Given the description of an element on the screen output the (x, y) to click on. 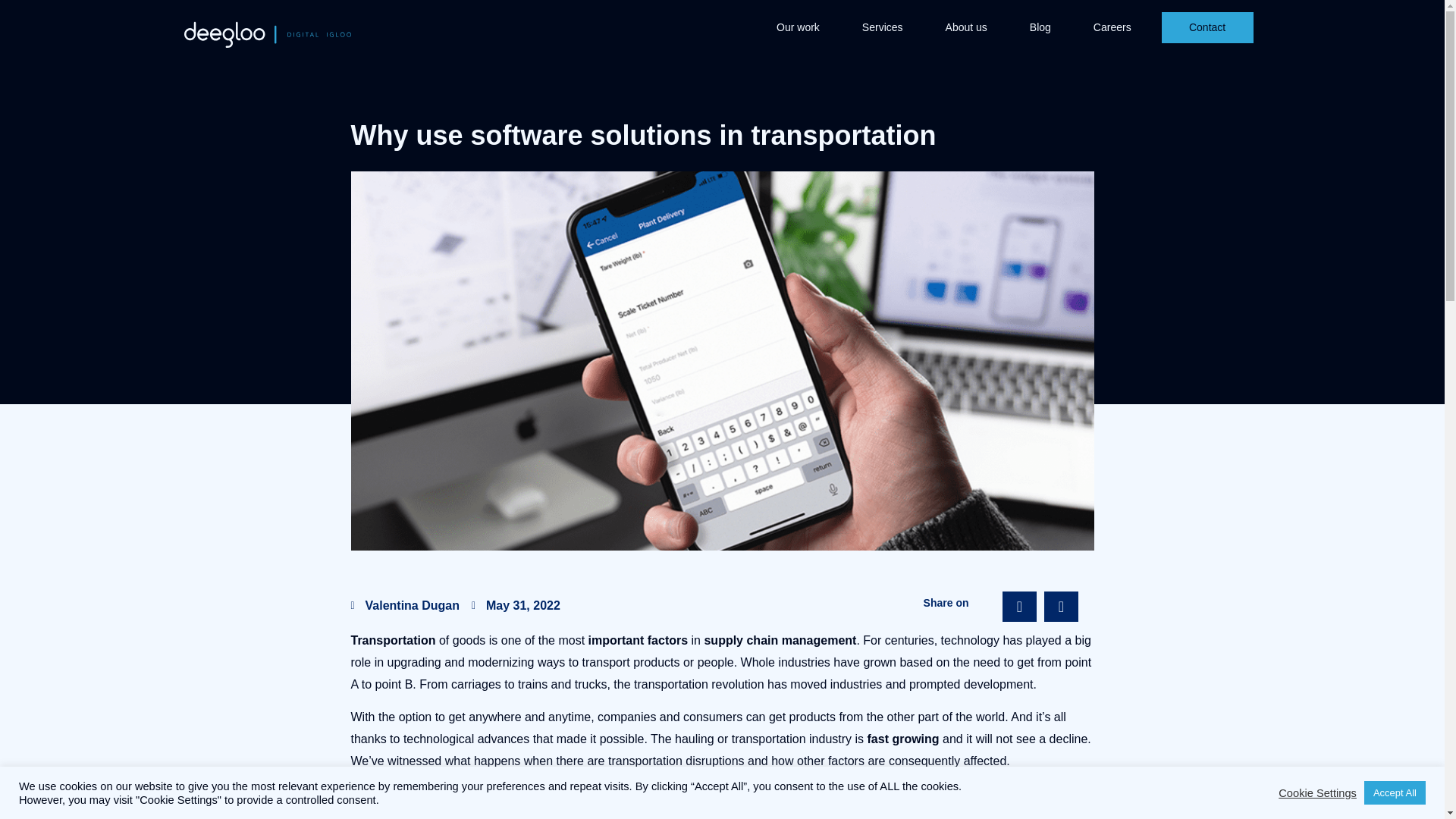
Careers (1112, 27)
May 31, 2022 (515, 606)
Services (882, 27)
Contact (1207, 27)
Blog (1039, 27)
About us (966, 27)
Valentina Dugan (404, 606)
Our work (797, 27)
